Given the description of an element on the screen output the (x, y) to click on. 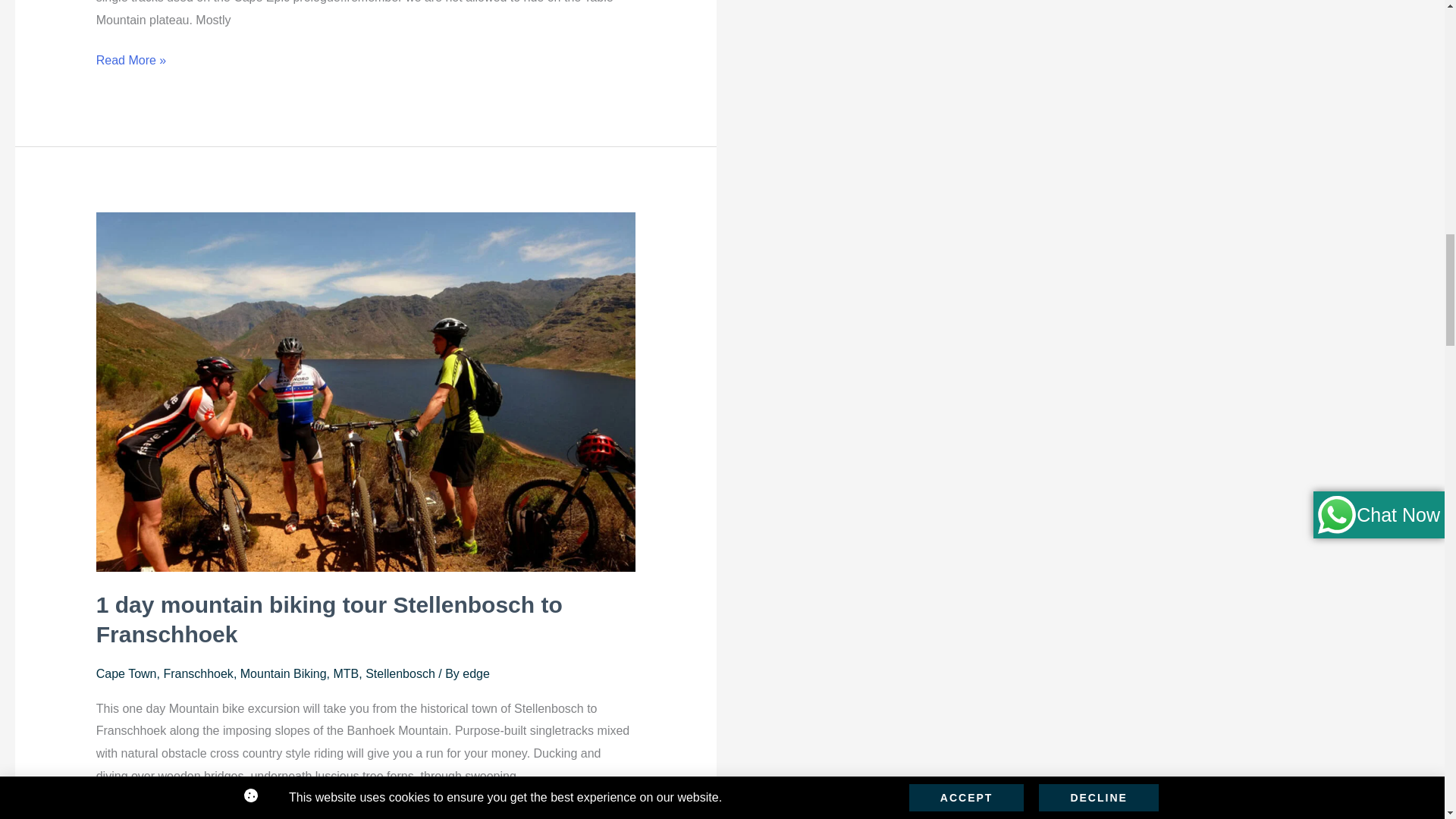
View all posts by edge (476, 673)
